Given the description of an element on the screen output the (x, y) to click on. 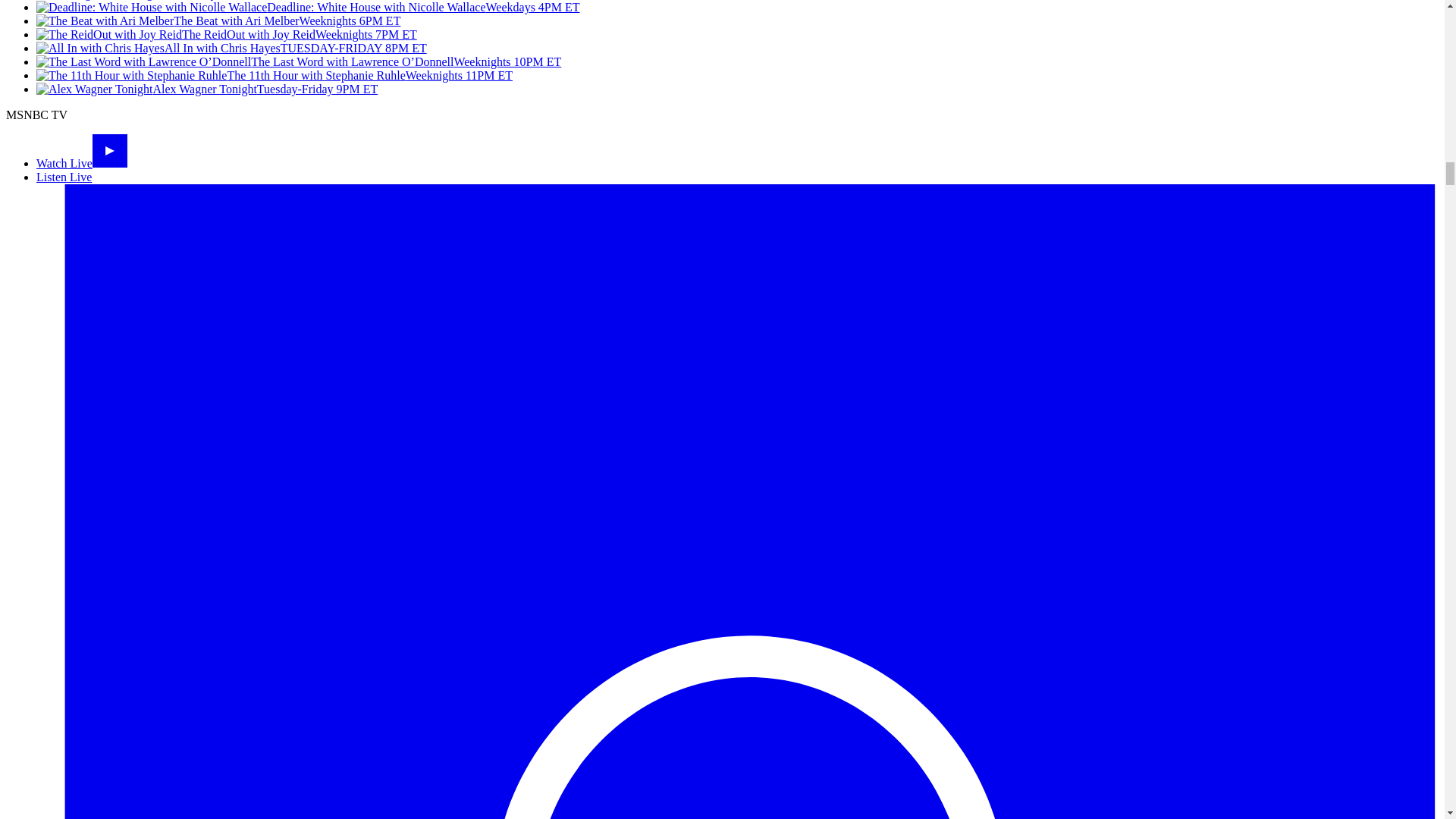
All In with Chris HayesTUESDAY-FRIDAY 8PM ET (231, 47)
Alex Wagner TonightTuesday-Friday 9PM ET (206, 88)
Deadline: White House with Nicolle WallaceWeekdays 4PM ET (307, 6)
The ReidOut with Joy ReidWeeknights 7PM ET (226, 33)
The Beat with Ari MelberWeeknights 6PM ET (218, 20)
Watch Live (82, 163)
The 11th Hour with Stephanie RuhleWeeknights 11PM ET (274, 74)
